Given the description of an element on the screen output the (x, y) to click on. 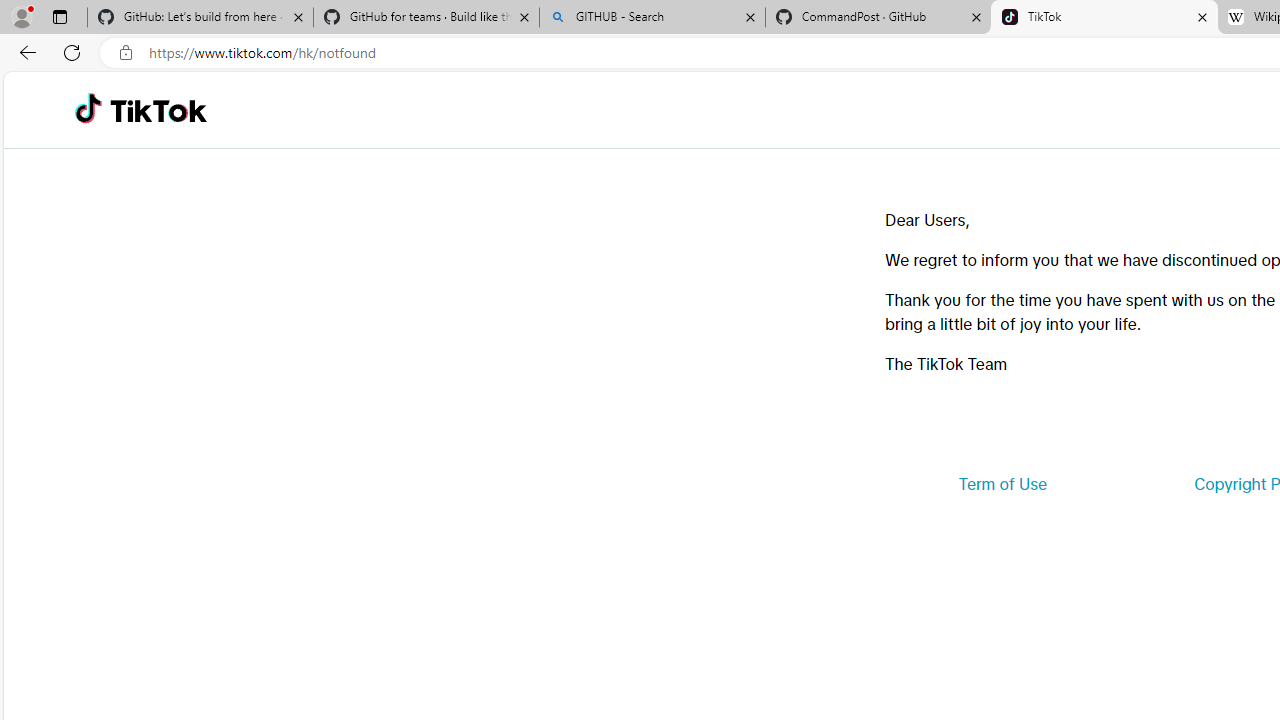
TikTok (1104, 17)
TikTok (158, 110)
Term of Use (1002, 484)
GITHUB - Search (652, 17)
